Given the description of an element on the screen output the (x, y) to click on. 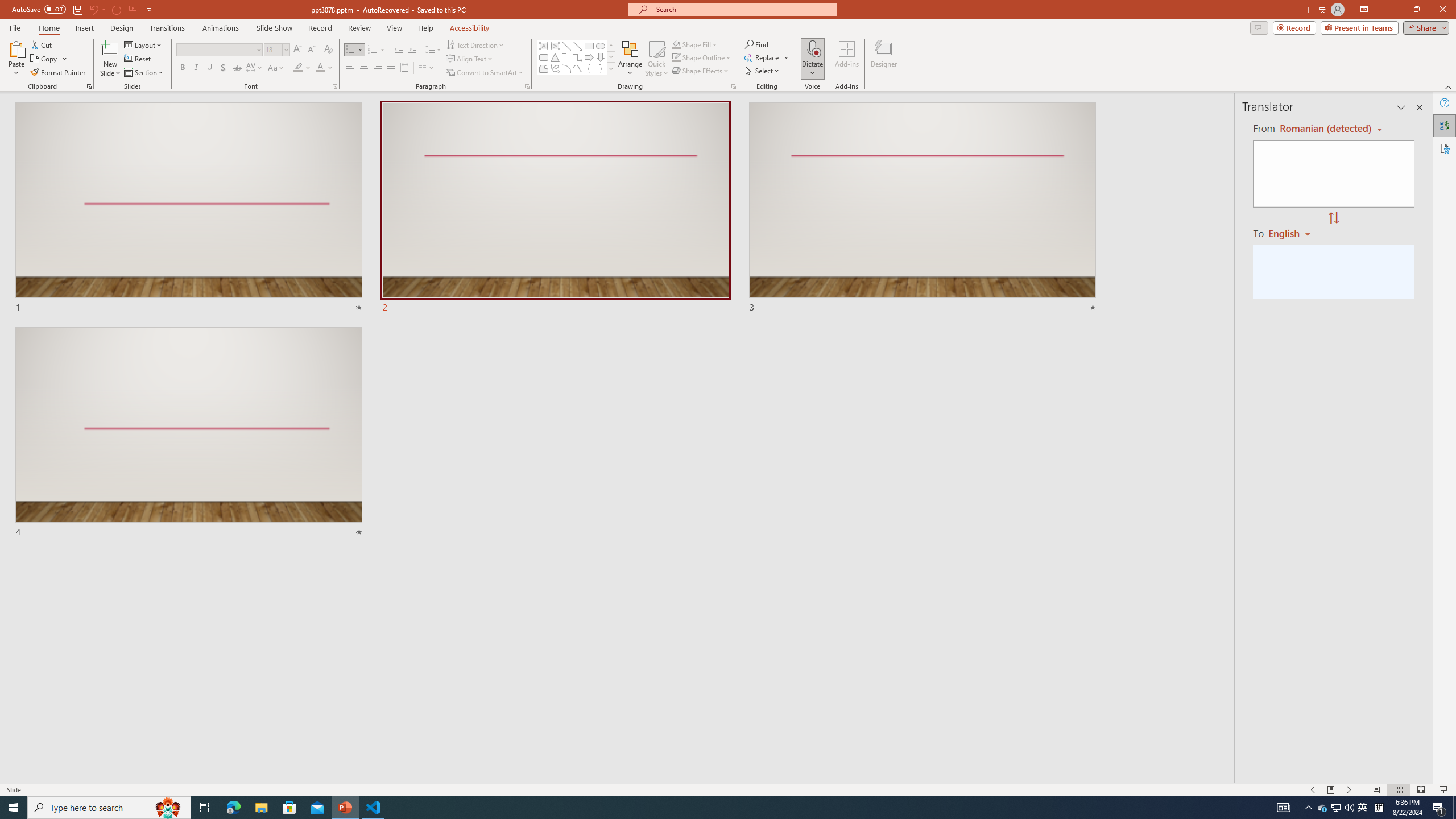
Rectangle (589, 45)
Section (144, 72)
Present in Teams (1359, 27)
Translator (1444, 125)
Row Down (611, 56)
Replace... (767, 56)
Text Highlight Color (302, 67)
Design (122, 28)
Left Brace (589, 68)
Line Spacing (433, 49)
Freeform: Shape (543, 68)
Connector: Elbow Arrow (577, 57)
Restore Down (1416, 9)
Dictate (812, 48)
